Given the description of an element on the screen output the (x, y) to click on. 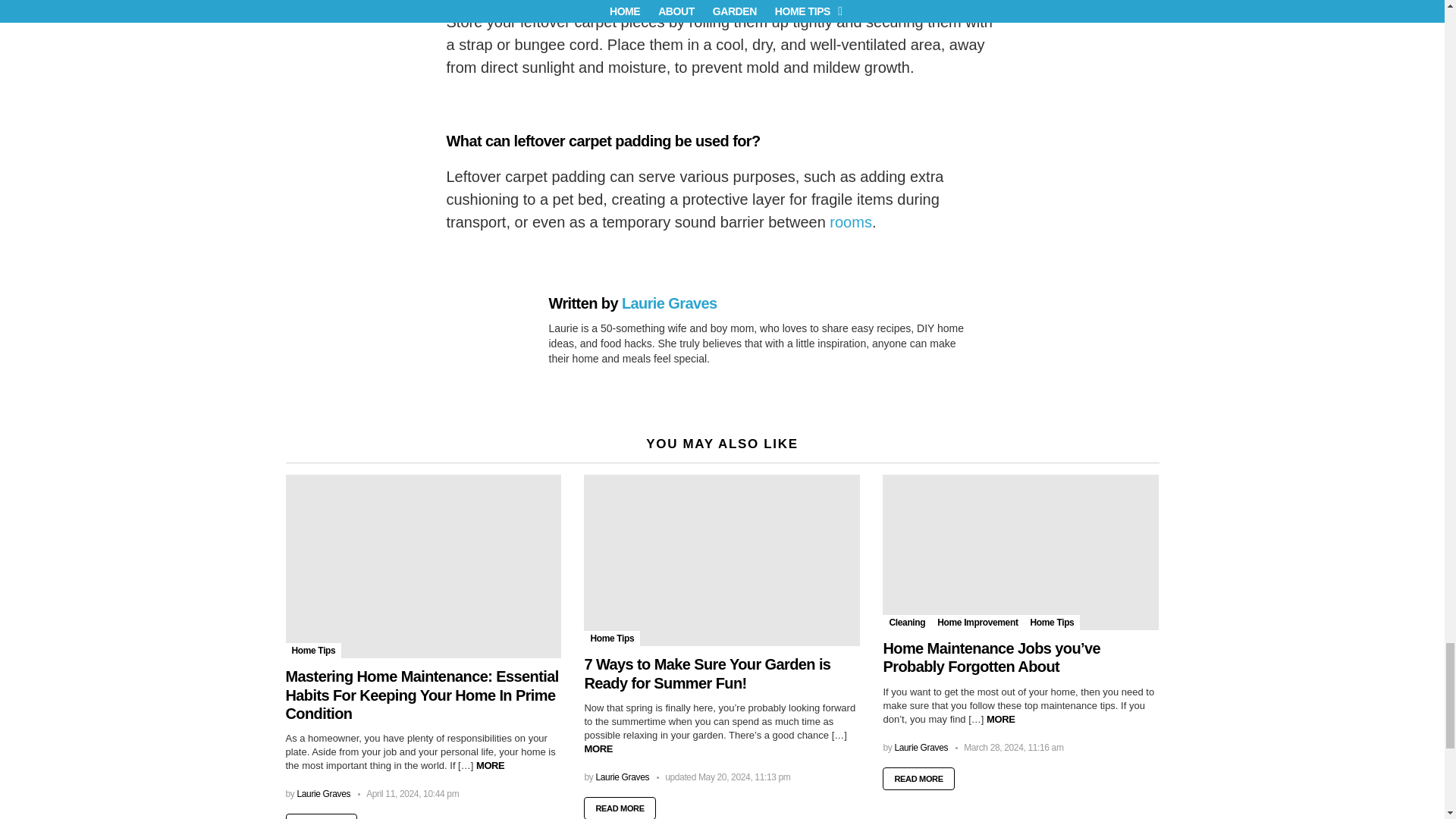
7 Ways to Make Sure Your Garden is Ready for Summer Fun! (721, 560)
Laurie Graves (669, 303)
rooms (850, 221)
Posts by Laurie Graves (622, 777)
Posts by Laurie Graves (323, 793)
Laurie Graves (323, 793)
MORE (489, 765)
Home Tips (312, 650)
